Given the description of an element on the screen output the (x, y) to click on. 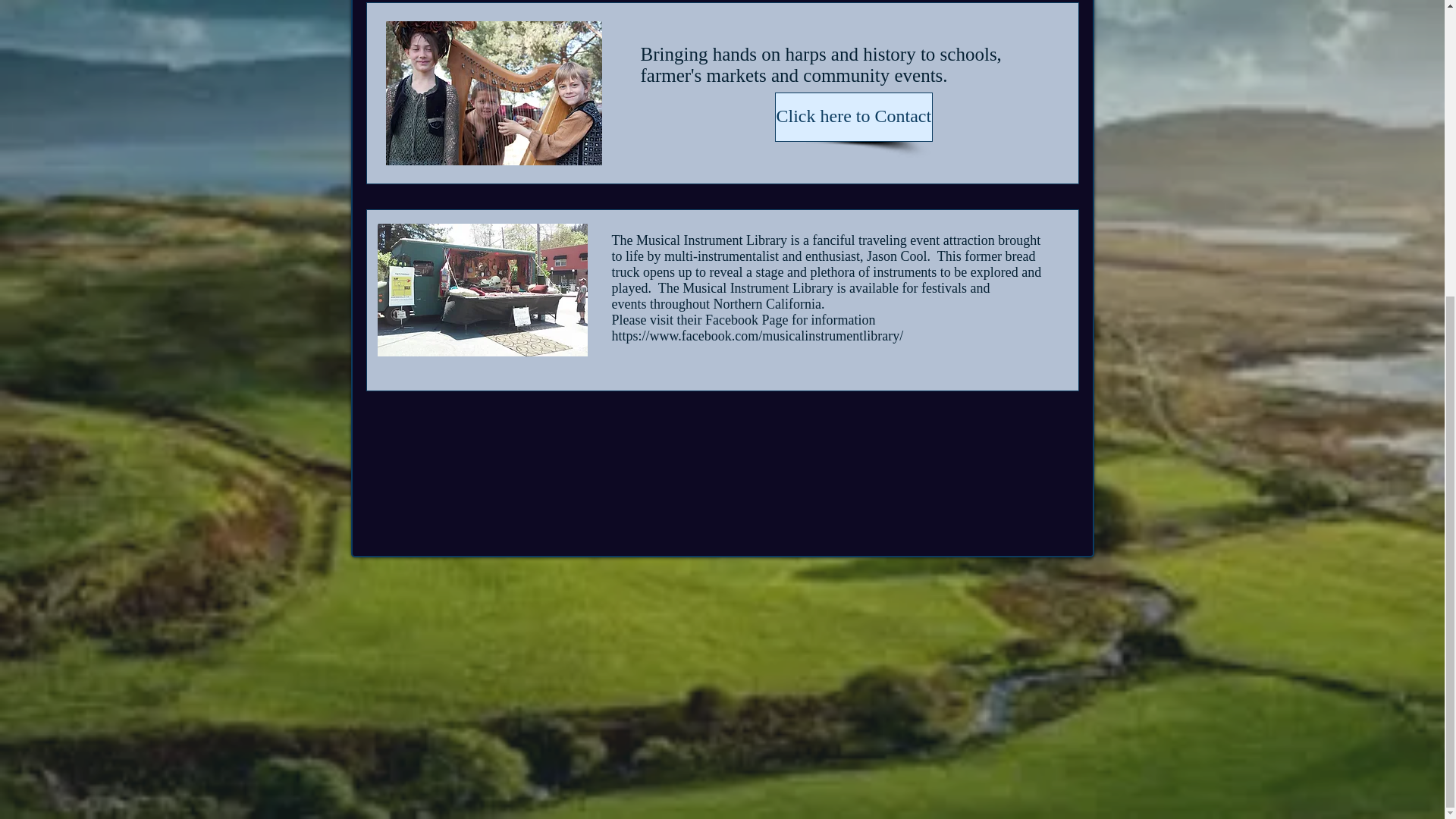
Click here to Contact (853, 116)
